Given the description of an element on the screen output the (x, y) to click on. 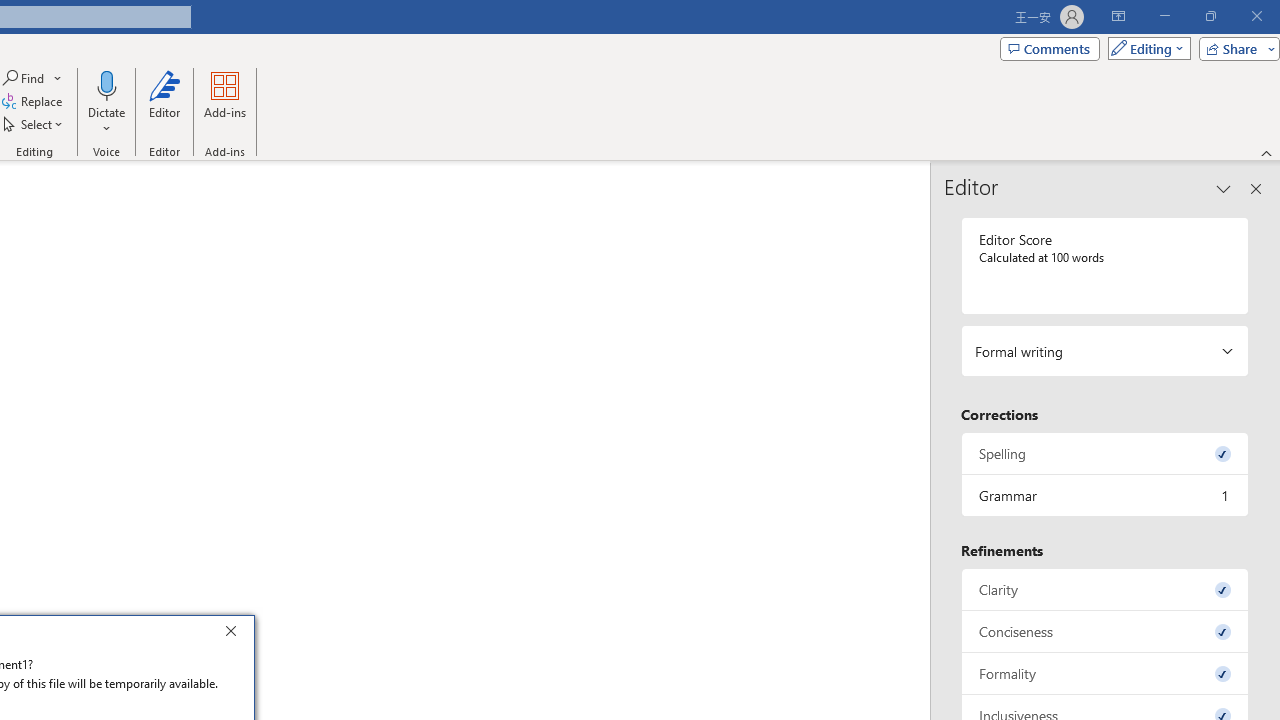
Conciseness, 0 issues. Press space or enter to review items. (1105, 631)
Grammar, 1 issue. Press space or enter to review items. (1105, 495)
Clarity, 0 issues. Press space or enter to review items. (1105, 588)
